Given the description of an element on the screen output the (x, y) to click on. 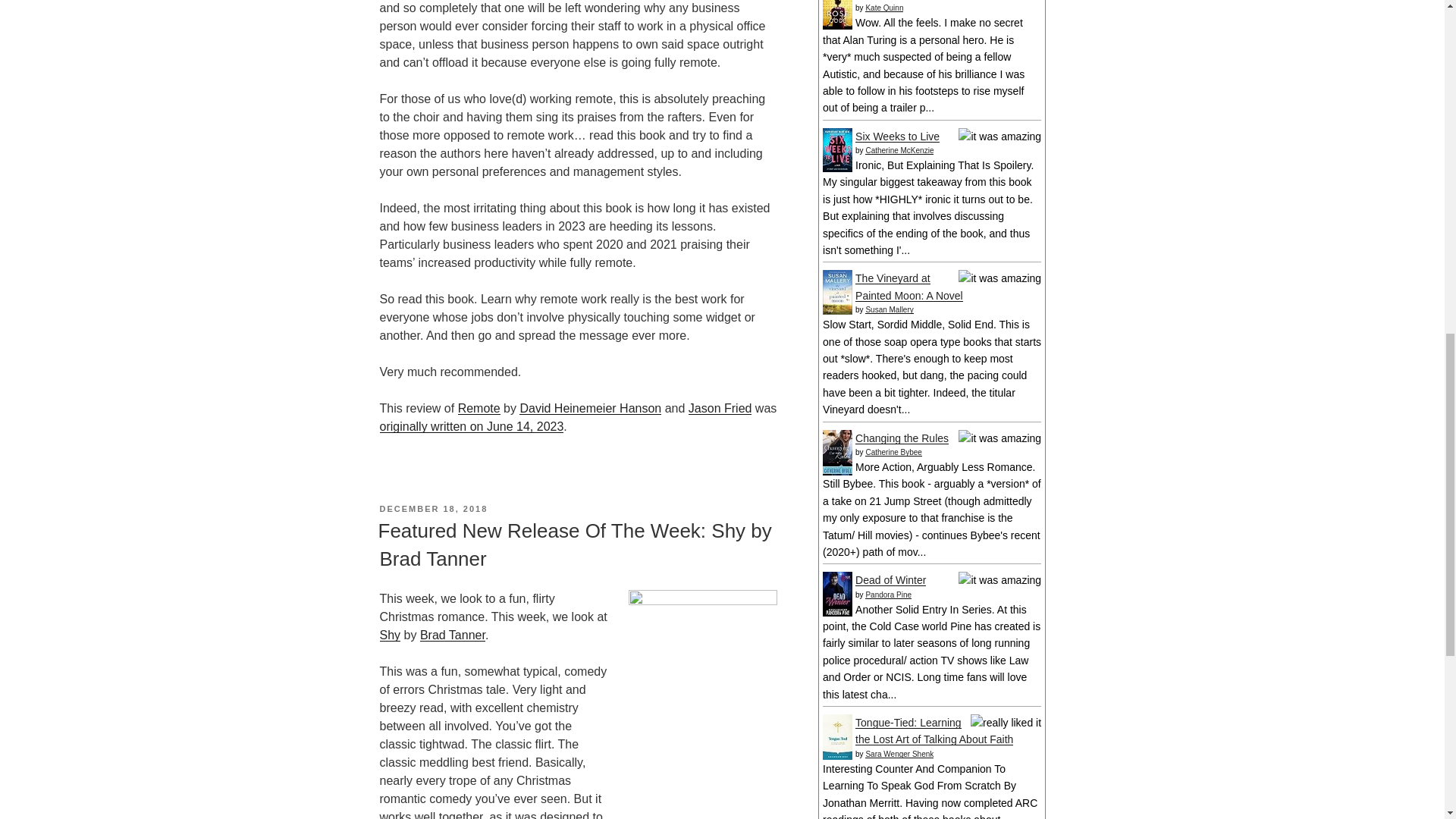
David Heinemeier Hanson (590, 408)
originally written on June 14, 2023 (470, 426)
Six Weeks to Live (836, 168)
it was amazing (999, 136)
The Rose Code (836, 25)
DECEMBER 18, 2018 (432, 508)
Kate Quinn (883, 8)
Susan Mallery (888, 309)
it was amazing (999, 438)
Featured New Release Of The Week: Shy by Brad Tanner (574, 544)
